Given the description of an element on the screen output the (x, y) to click on. 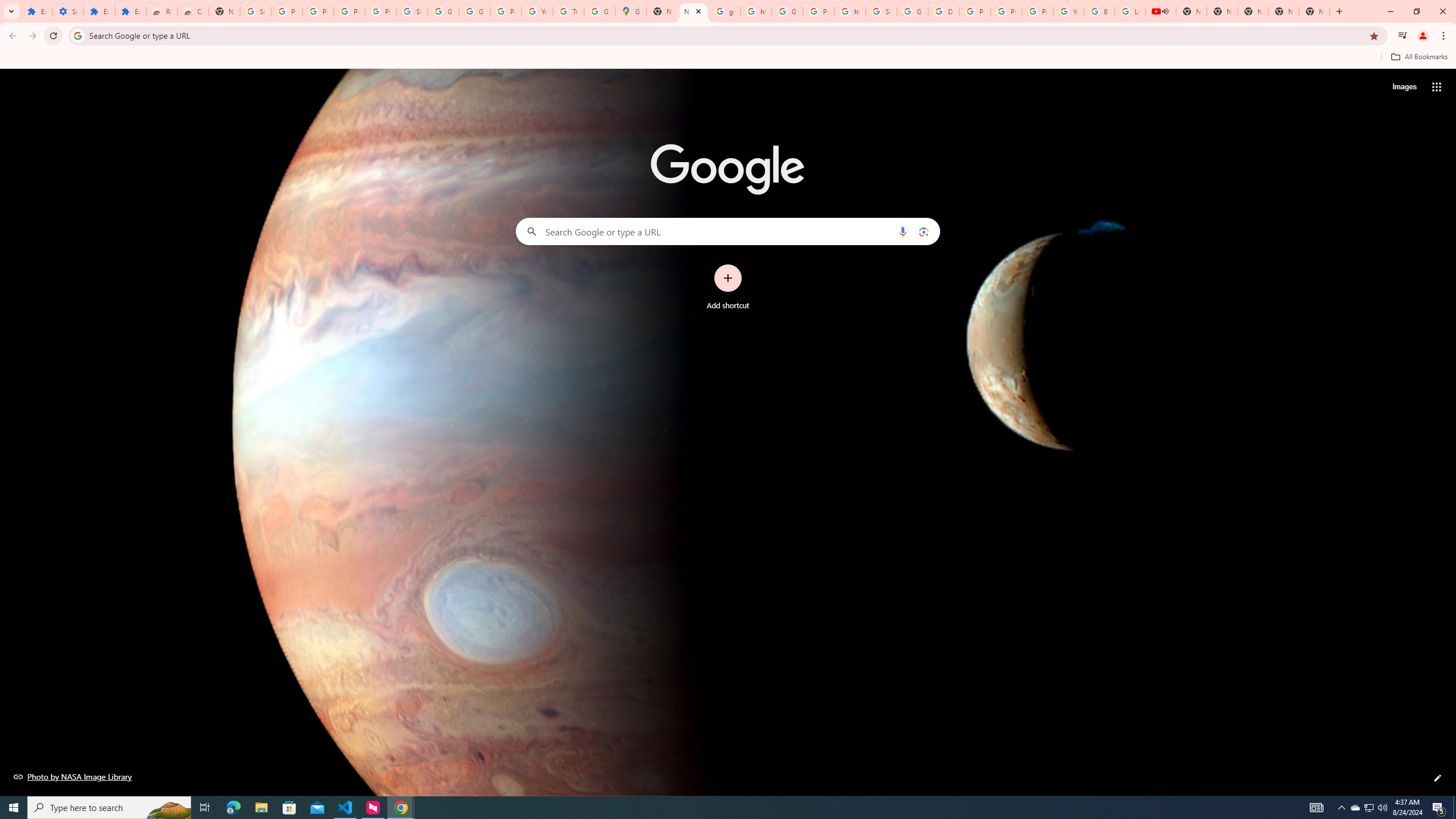
Google Maps (631, 11)
Add shortcut (727, 287)
Customize this page (1437, 778)
Chrome Web Store - Themes (192, 11)
YouTube (1068, 11)
Extensions (98, 11)
Extensions (130, 11)
